Given the description of an element on the screen output the (x, y) to click on. 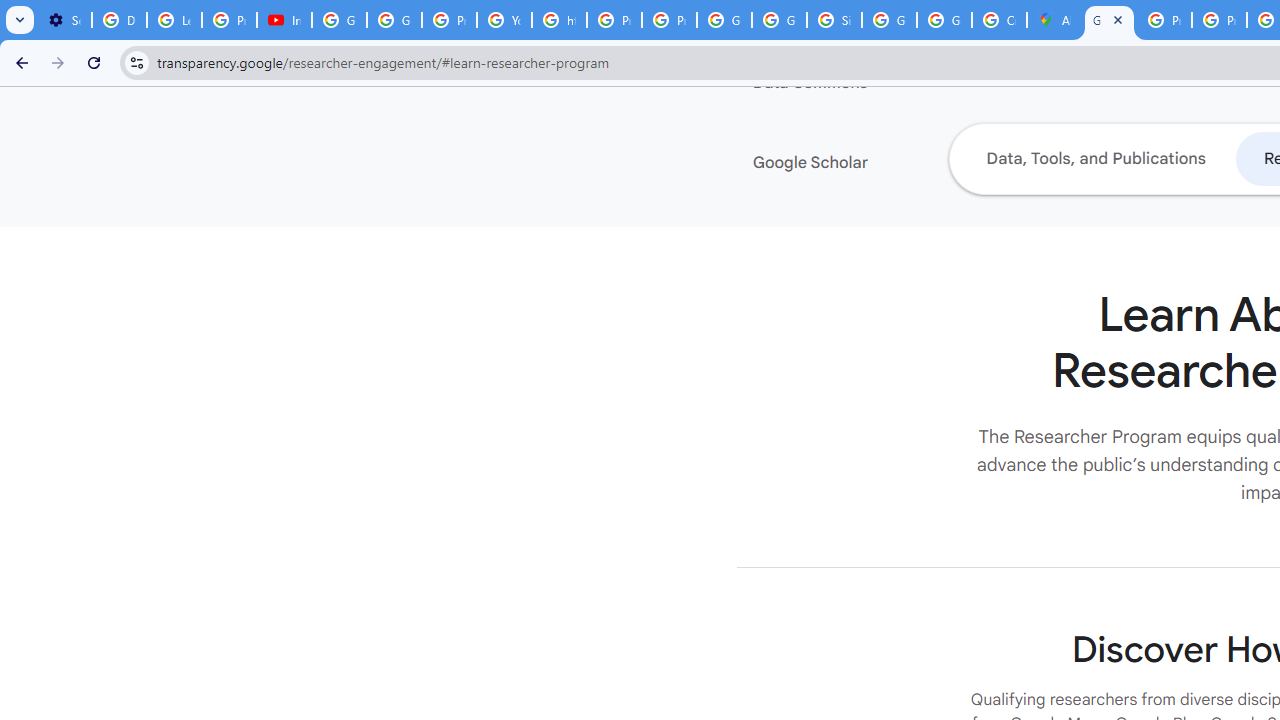
Google Account Help (339, 20)
Introduction | Google Privacy Policy - YouTube (284, 20)
Privacy Help Center - Policies Help (1163, 20)
YouTube (504, 20)
Sign in - Google Accounts (833, 20)
Data Commons (874, 83)
Privacy Help Center - Policies Help (1218, 20)
Settings - Performance (64, 20)
Privacy Help Center - Policies Help (614, 20)
